Given the description of an element on the screen output the (x, y) to click on. 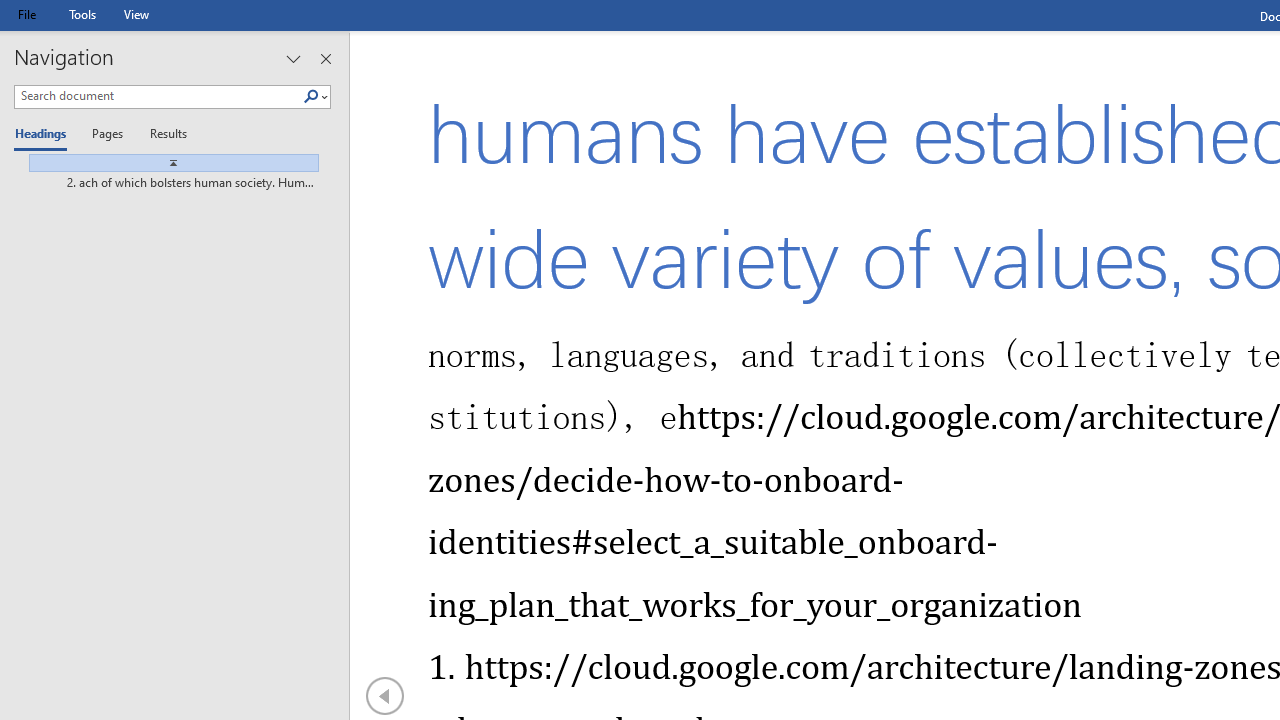
Headings (45, 135)
Jump to the beginning (166, 163)
Pages (105, 135)
Search document (157, 96)
Results (161, 135)
Tools (82, 14)
